Given the description of an element on the screen output the (x, y) to click on. 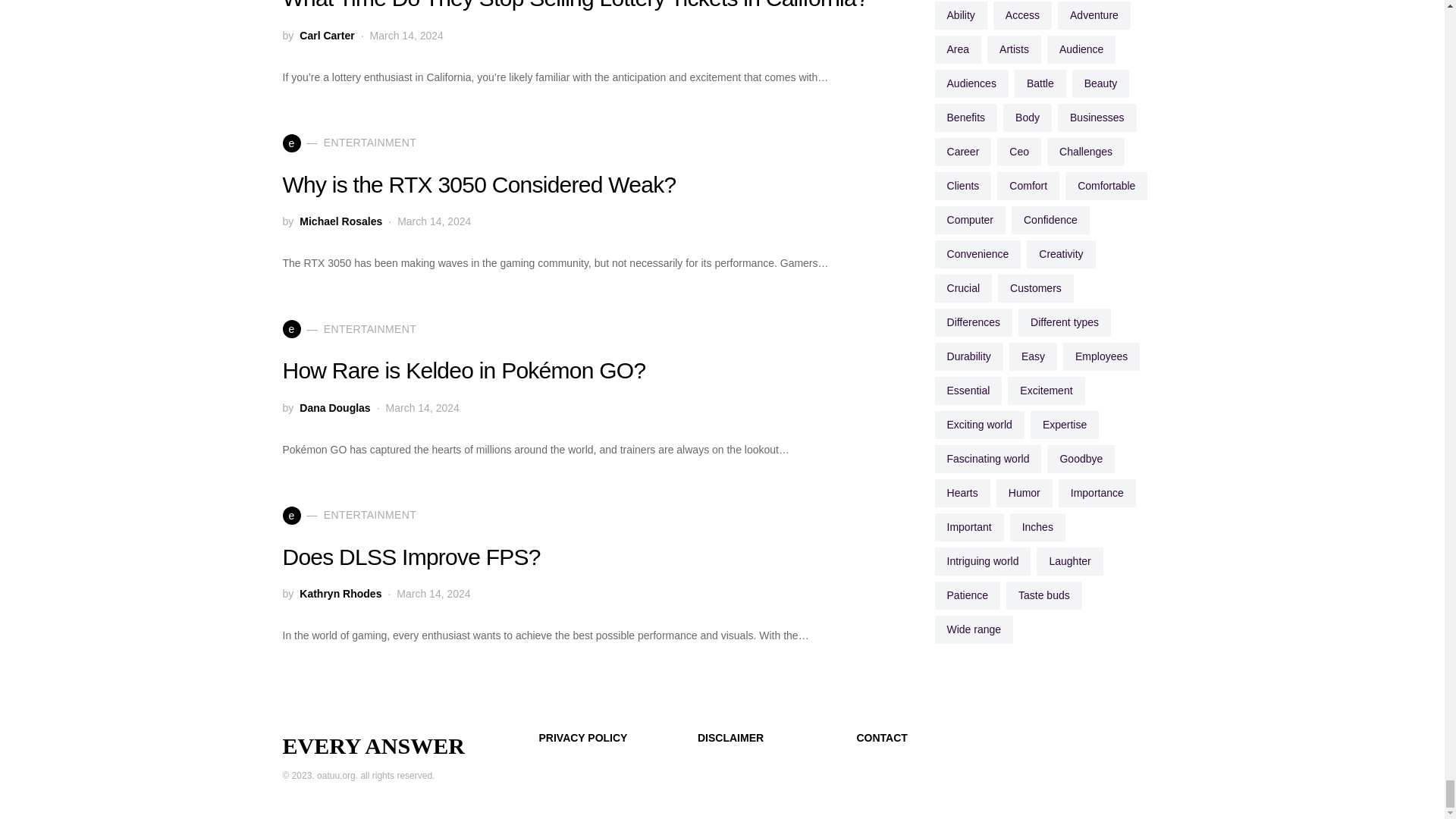
View all posts by Dana Douglas (334, 406)
View all posts by Kathryn Rhodes (340, 593)
View all posts by Carl Carter (326, 35)
View all posts by Michael Rosales (340, 220)
